Given the description of an element on the screen output the (x, y) to click on. 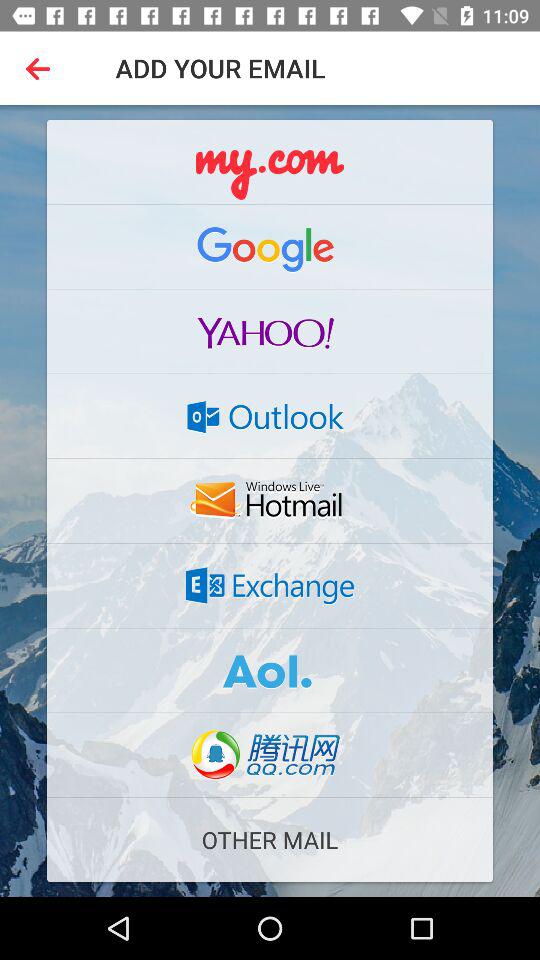
select gmail (269, 246)
